Given the description of an element on the screen output the (x, y) to click on. 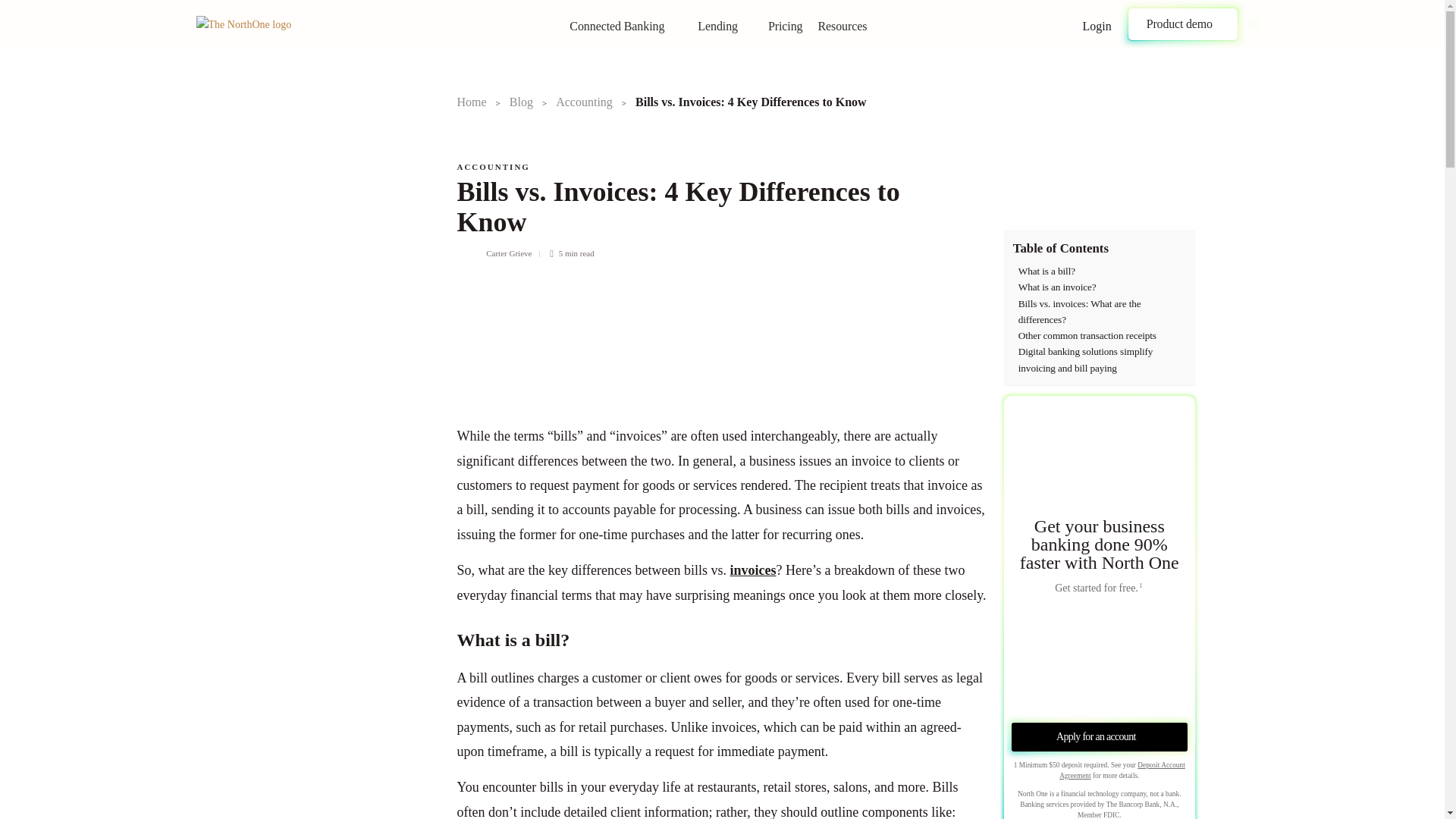
Bills vs. invoices: What are the differences? (1101, 311)
Bills vs. Invoices: 4 Key Differences to Know (710, 210)
What is a bill? (1046, 270)
Bills vs. Invoices: 4 Key Differences to Know (750, 101)
Accounting (584, 101)
Pricing (787, 26)
Home (471, 101)
Blog (520, 101)
What is a bill? (1046, 270)
Other common transaction receipts (1086, 335)
